Given the description of an element on the screen output the (x, y) to click on. 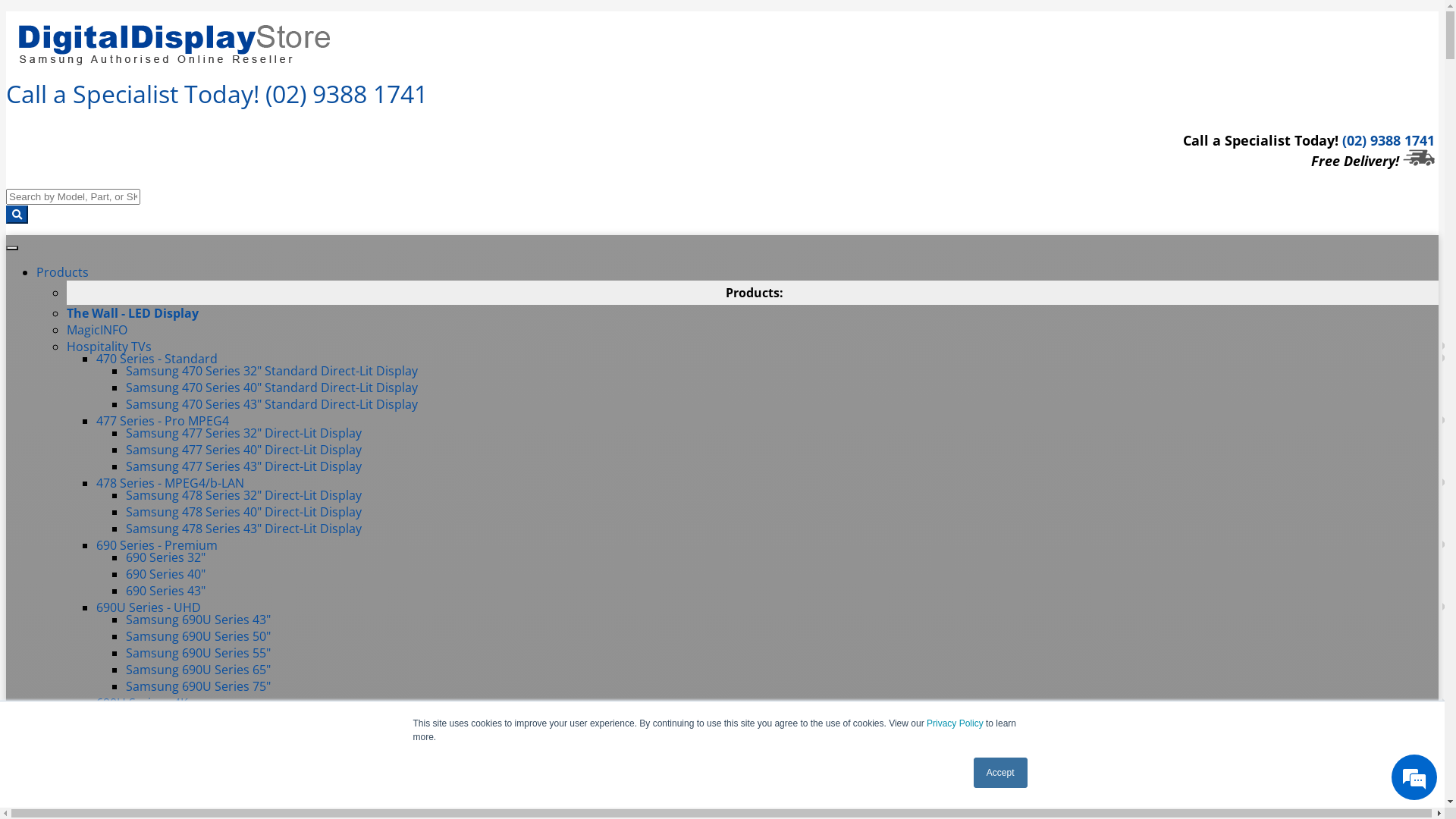
Samsung 470 Series 43" Standard Direct-Lit Display Element type: text (271, 403)
Samsung 690U 4K Series 75" Element type: text (206, 781)
690U Series - 4K Element type: text (142, 702)
470 Series - Standard Element type: text (156, 358)
478 Series - MPEG4/b-LAN Element type: text (170, 482)
710 Series - 4K Element type: text (137, 798)
Samsung 690U 4K Series 55" Element type: text (206, 748)
Samsung 477 Series 40" Direct-Lit Display Element type: text (243, 449)
Samsung 690U 4K Series 50" Element type: text (206, 731)
690 Series 32" Element type: text (165, 557)
690 Series - Premium Element type: text (156, 544)
Hospitality TVs Element type: text (108, 346)
Products Element type: text (62, 271)
Samsung 690U Series 75" Element type: text (197, 685)
Accept Element type: text (1000, 772)
Samsung 690U Series 50" Element type: text (197, 635)
The Wall - LED Display Element type: text (132, 312)
690 Series 40" Element type: text (165, 573)
Samsung 477 Series 32" Direct-Lit Display Element type: text (243, 432)
Samsung 470 Series 40" Standard Direct-Lit Display Element type: text (271, 387)
Samsung 690U Series 43" Element type: text (197, 619)
690 Series 43" Element type: text (165, 590)
Samsung 690U Series 65" Element type: text (197, 669)
Samsung 478 Series 32" Direct-Lit Display Element type: text (243, 494)
Samsung 477 Series 43" Direct-Lit Display Element type: text (243, 466)
Samsung 690U 4K Series 65" Element type: text (206, 764)
Samsung 690U 4K Series 43" Element type: text (206, 714)
Samsung 478 Series 43" Direct-Lit Display Element type: text (243, 528)
Samsung 478 Series 40" Direct-Lit Display Element type: text (243, 511)
(02) 9388 1741 Element type: text (346, 93)
MagicINFO Element type: text (96, 329)
Samsung 690U Series 55" Element type: text (197, 652)
Privacy Policy Element type: text (954, 723)
690U Series - UHD Element type: text (148, 607)
Samsung 470 Series 32" Standard Direct-Lit Display Element type: text (271, 370)
477 Series - Pro MPEG4 Element type: text (162, 420)
(02) 9388 1741 Element type: text (1388, 140)
